Given the description of an element on the screen output the (x, y) to click on. 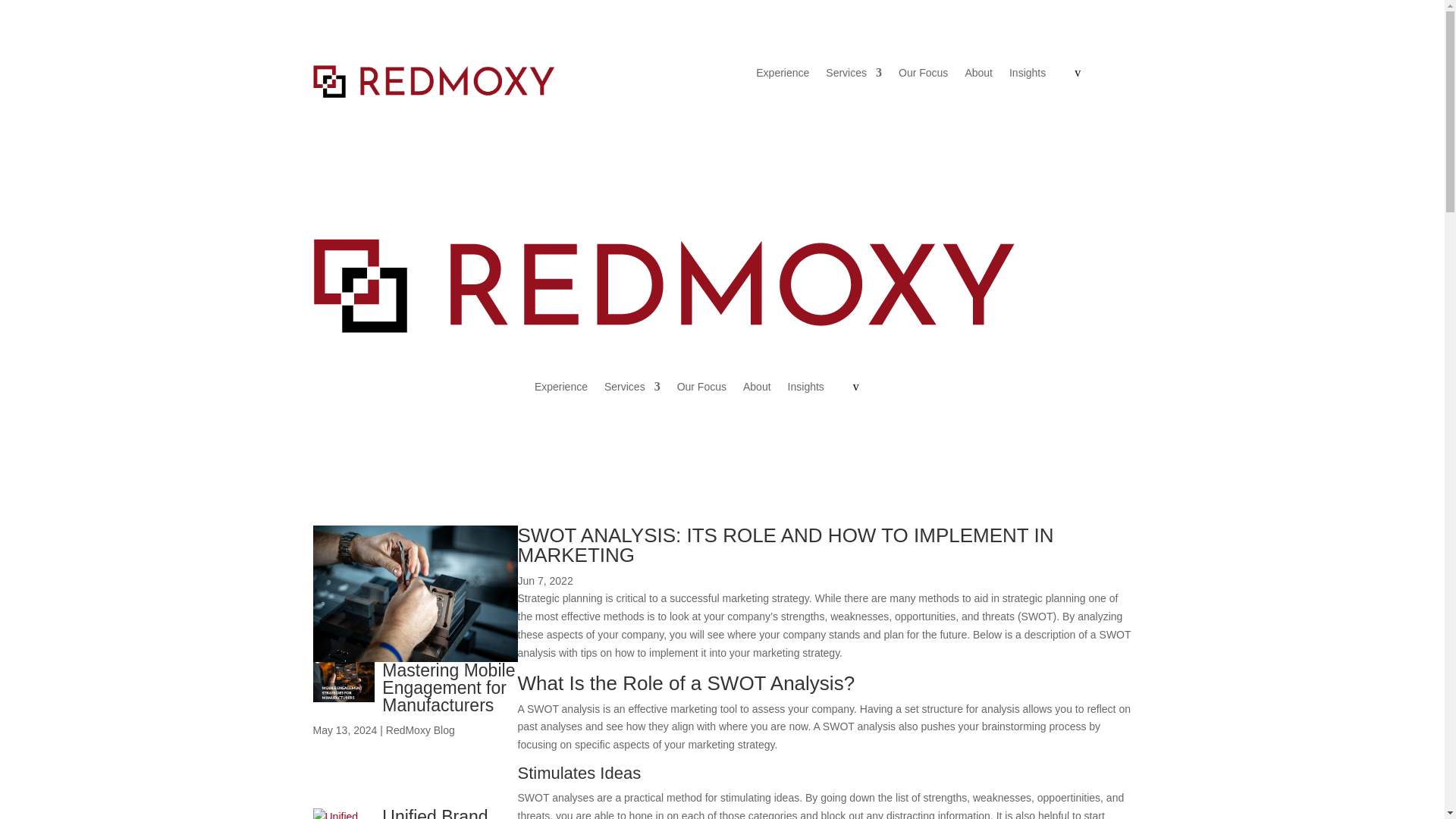
About (977, 77)
Experience (782, 77)
Contact (1102, 71)
Our Focus (701, 391)
daniel-smyth-03TaAgmtXwM-unsplash (414, 593)
Services (853, 77)
Services (632, 391)
Insights (805, 391)
Unified Brand Messaging for Manufacturers (437, 812)
Contact (881, 385)
Our Focus (922, 77)
Insights (1027, 77)
Mastering Mobile Engagement for Manufacturers (448, 687)
Experience (561, 391)
About (756, 391)
